Given the description of an element on the screen output the (x, y) to click on. 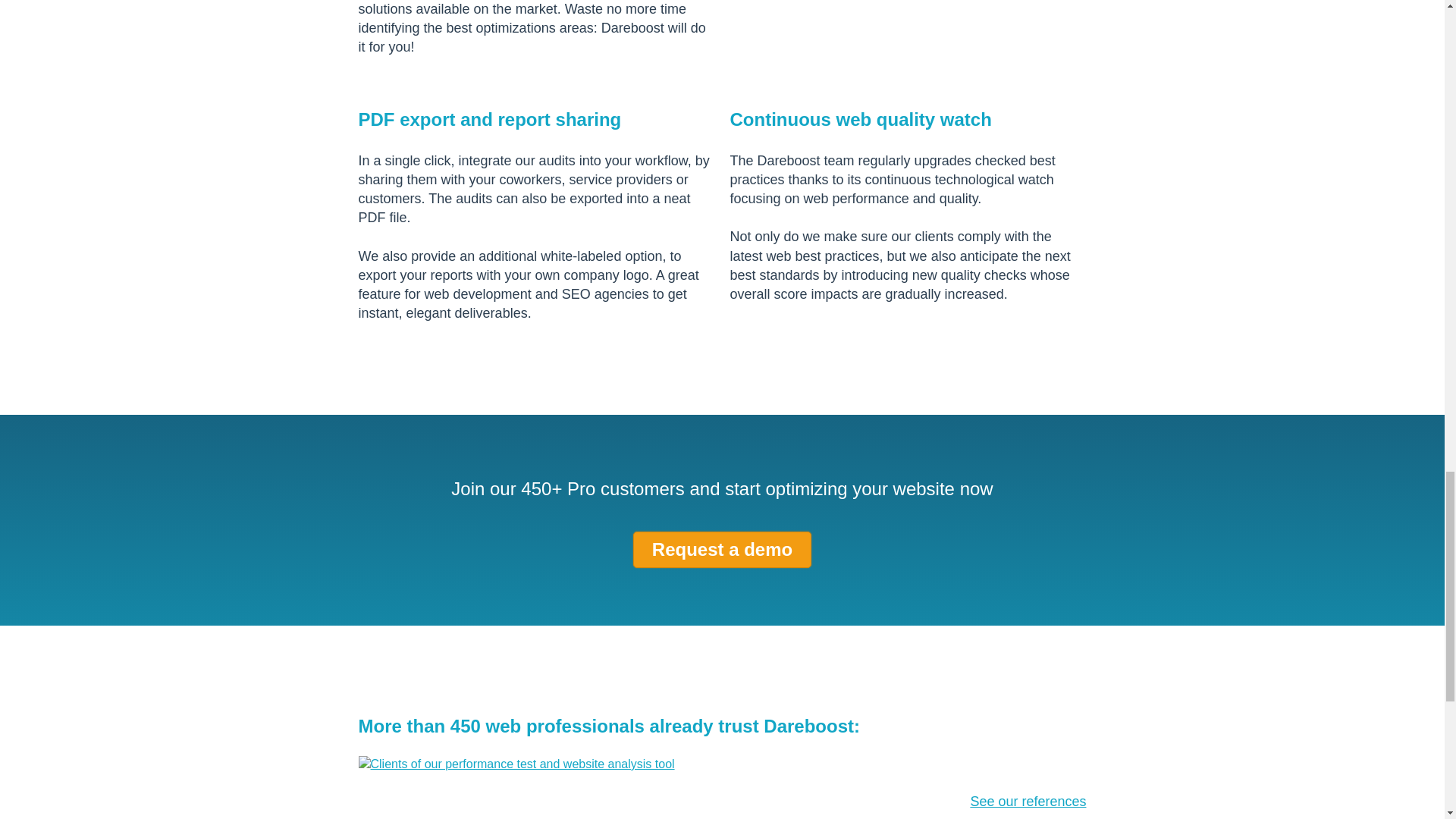
Request a demo (721, 549)
See our references (1027, 801)
